Given the description of an element on the screen output the (x, y) to click on. 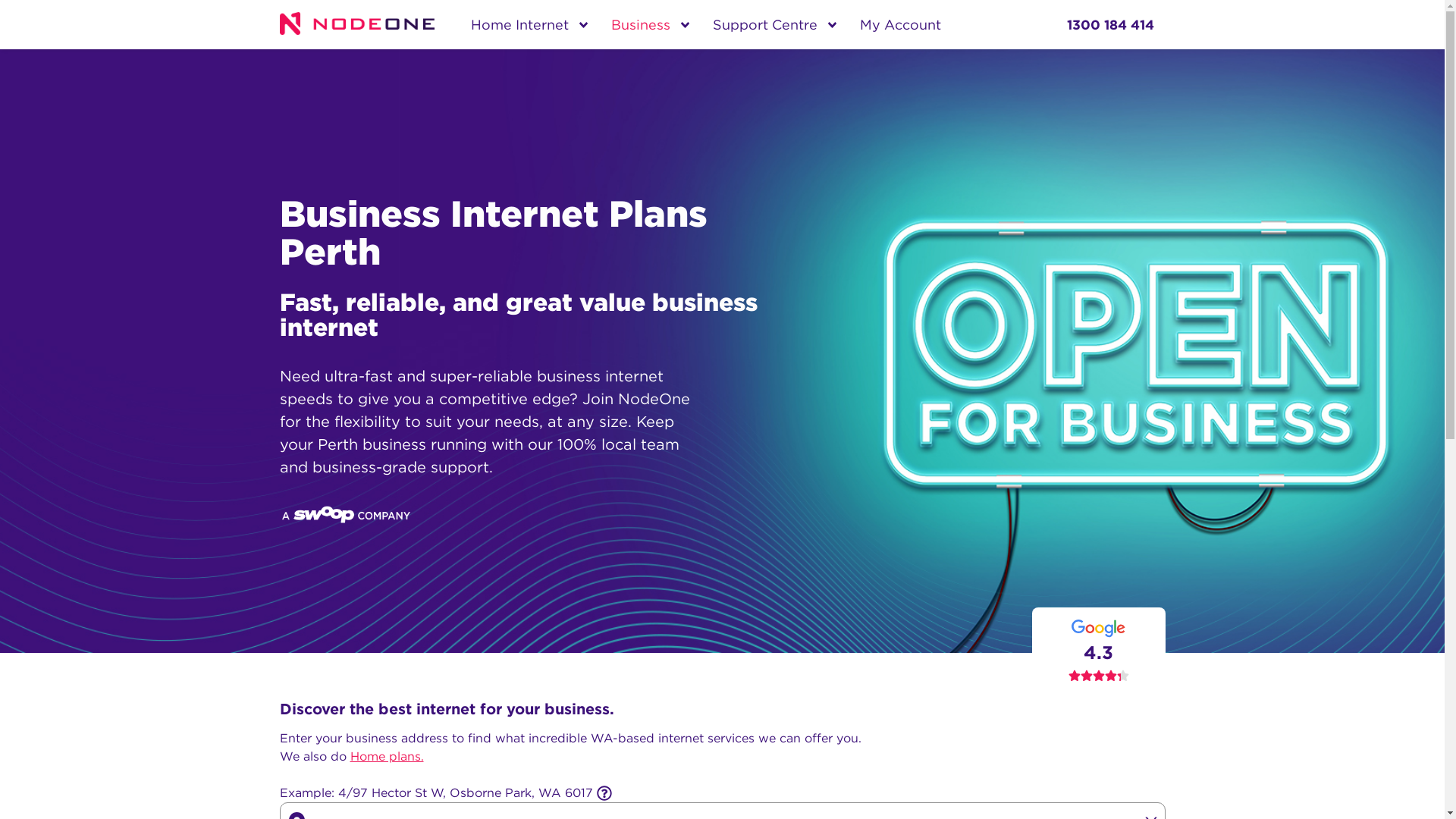
Home Internet Element type: text (522, 24)
1300 184 414 Element type: text (1109, 24)
Home plans. Element type: text (386, 756)
Business Element type: text (643, 24)
Support Centre Element type: text (767, 24)
My Account Element type: text (900, 24)
Go to Homepage Element type: hover (365, 24)
